Given the description of an element on the screen output the (x, y) to click on. 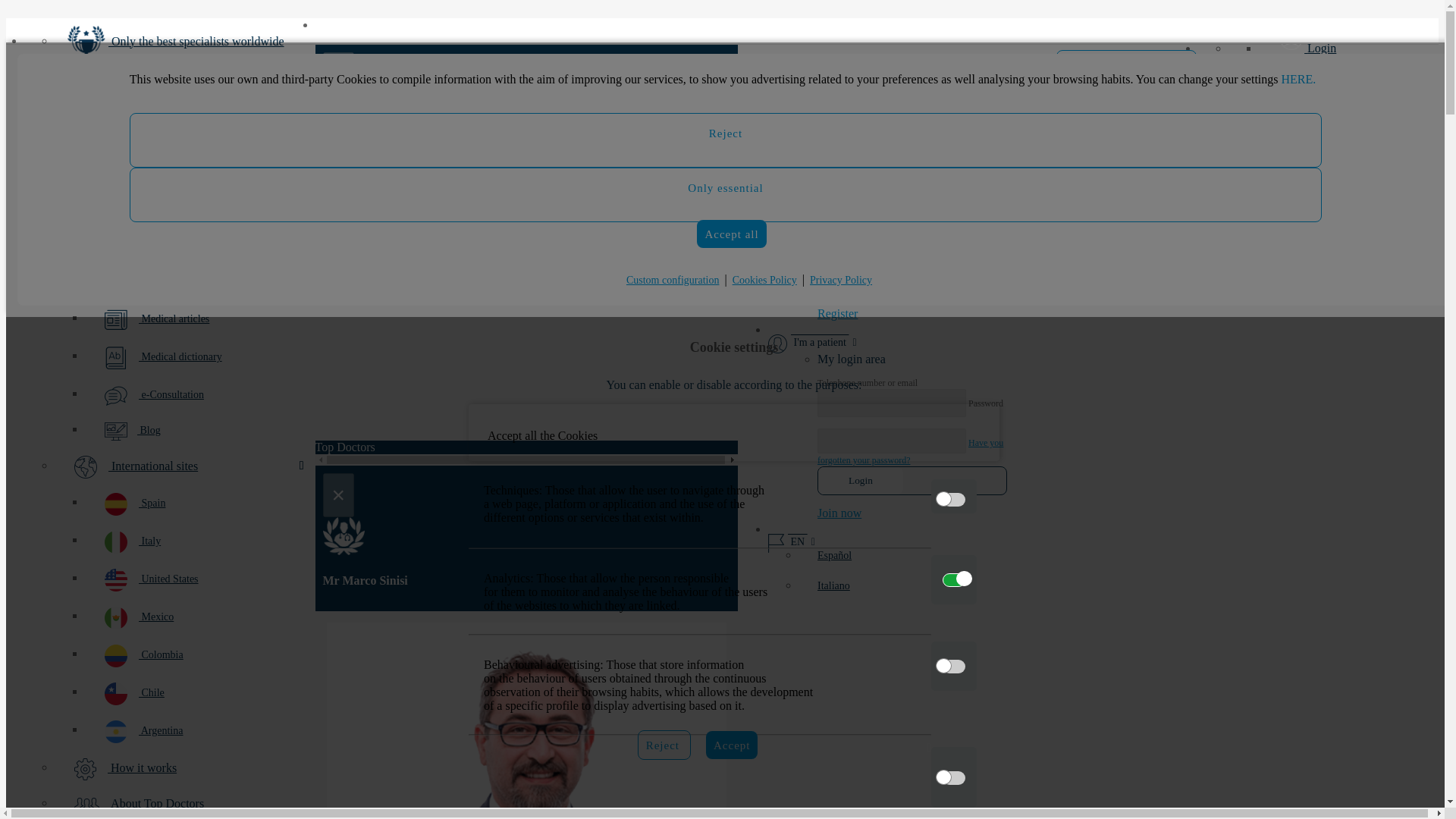
Spain (200, 504)
Login (860, 480)
Medical insurance (200, 281)
Only the best specialists worldwide (185, 42)
Categories (185, 85)
e-Consultation (200, 395)
I'm a patient (812, 328)
Medical dictionary (200, 357)
I'm a doctor (810, 63)
International sites (185, 466)
Have you forgotten your password? (909, 252)
I am a healthcare professional (1126, 62)
Talk to a Doctor Online (1327, 192)
Colombia (200, 655)
How it works (185, 769)
